Given the description of an element on the screen output the (x, y) to click on. 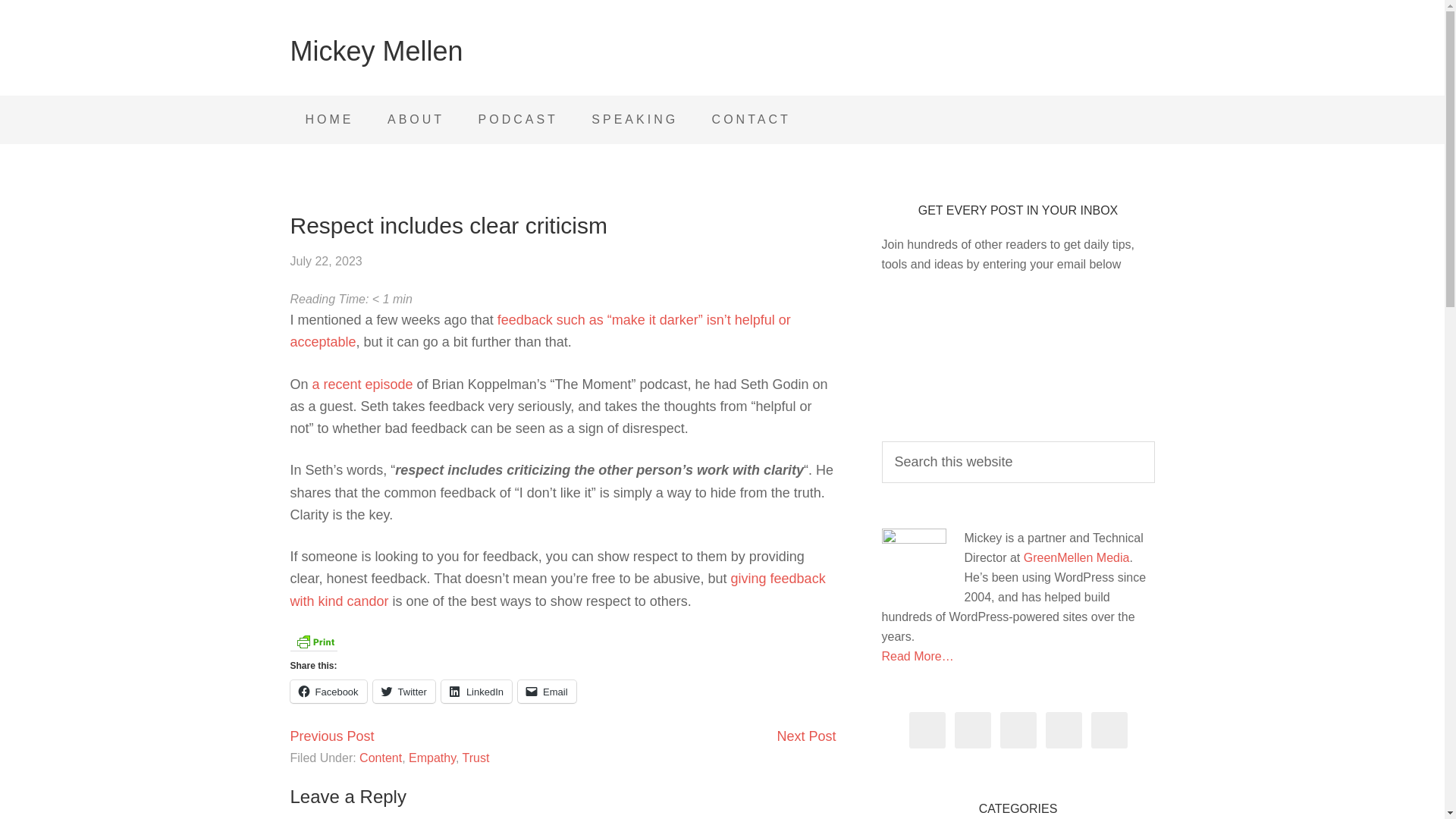
Trust (476, 757)
GreenMellen Media (1076, 557)
Previous Post (331, 735)
Click to share on LinkedIn (476, 691)
SPEAKING (634, 119)
giving feedback with kind candor (557, 589)
Twitter (403, 691)
a recent episode (363, 383)
HOME (328, 119)
